Given the description of an element on the screen output the (x, y) to click on. 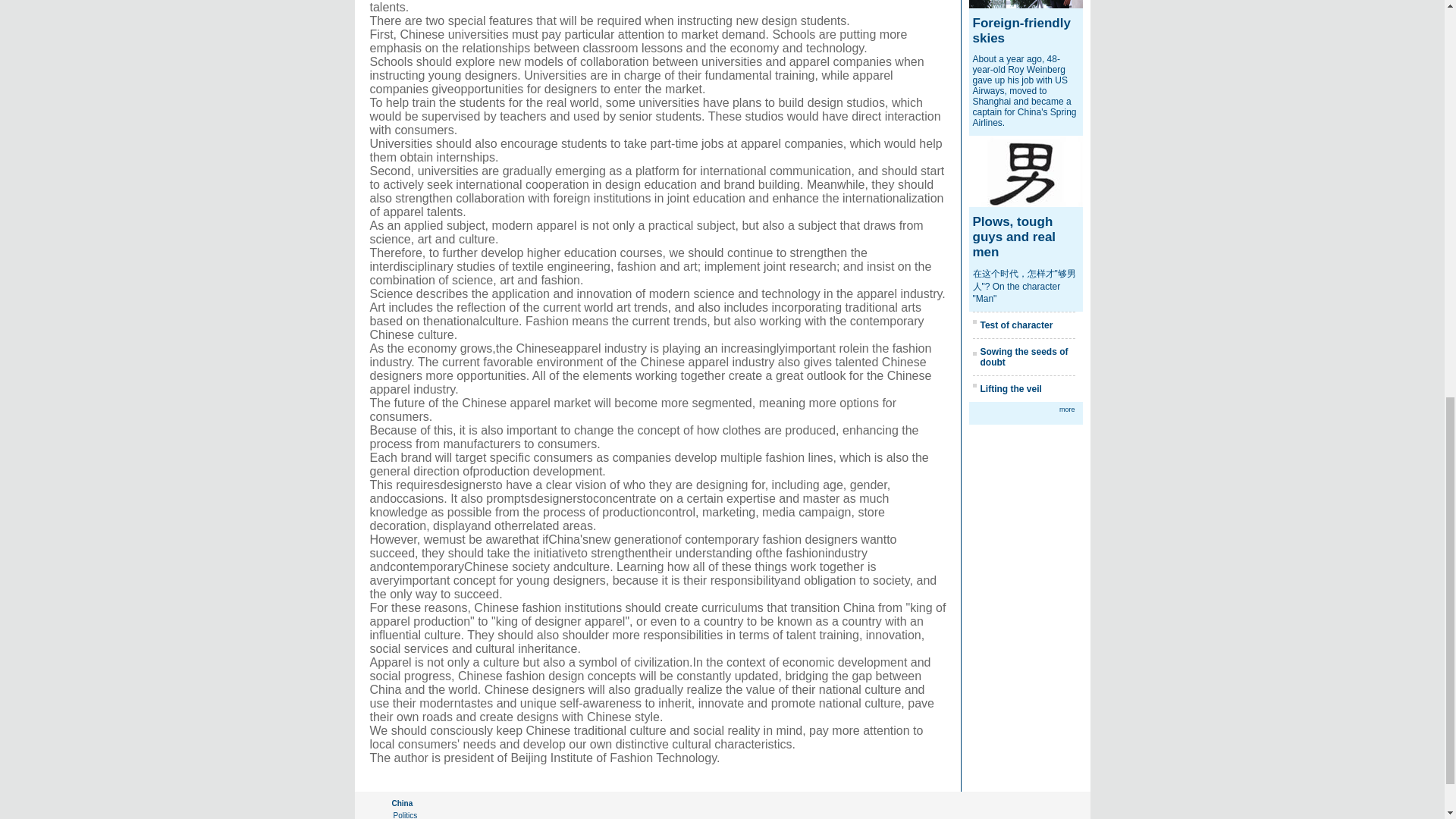
Test of character (1015, 325)
Foreign-friendly skies (1021, 30)
more (1067, 409)
Plows, tough guys and real men (1013, 236)
Lifting the veil (1010, 388)
Sowing the seeds of doubt (1023, 356)
